Given the description of an element on the screen output the (x, y) to click on. 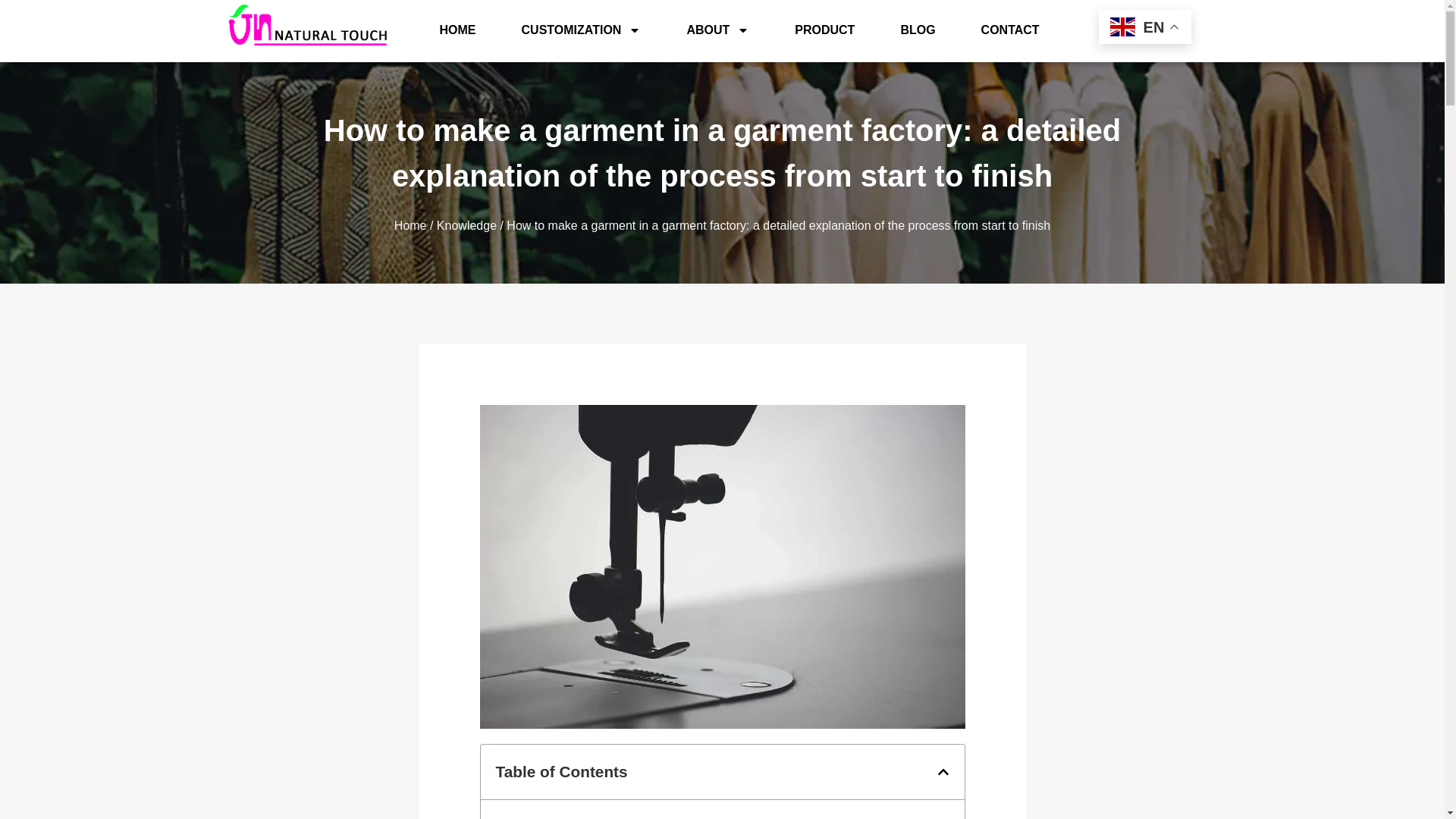
BLOG (917, 30)
CUSTOMIZATION (581, 30)
HOME (458, 30)
CONTACT (1010, 30)
ABOUT (717, 30)
PRODUCT (823, 30)
